Given the description of an element on the screen output the (x, y) to click on. 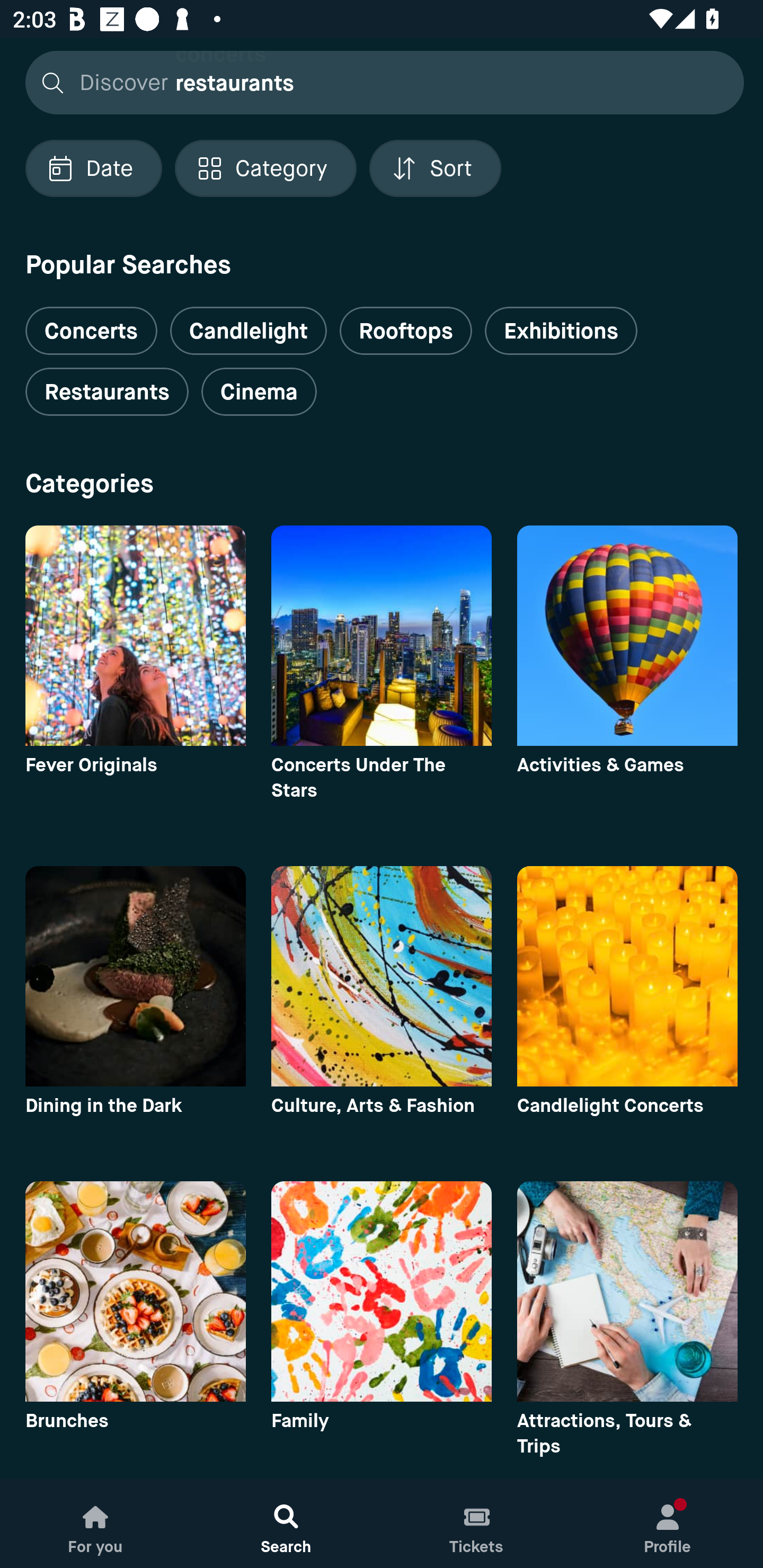
Discover concerts restaurants (379, 81)
Localized description Date (93, 168)
Localized description Category (265, 168)
Localized description Sort (435, 168)
Concerts (91, 323)
Candlelight (248, 330)
Rooftops (405, 330)
Exhibitions (560, 330)
Restaurants (106, 391)
Cinema (258, 391)
category image (135, 635)
category image (381, 635)
category image (627, 635)
category image (135, 975)
category image (381, 975)
category image (627, 975)
category image (135, 1290)
category image (381, 1290)
category image (627, 1290)
For you (95, 1523)
Tickets (476, 1523)
Profile, New notification Profile (667, 1523)
